Given the description of an element on the screen output the (x, y) to click on. 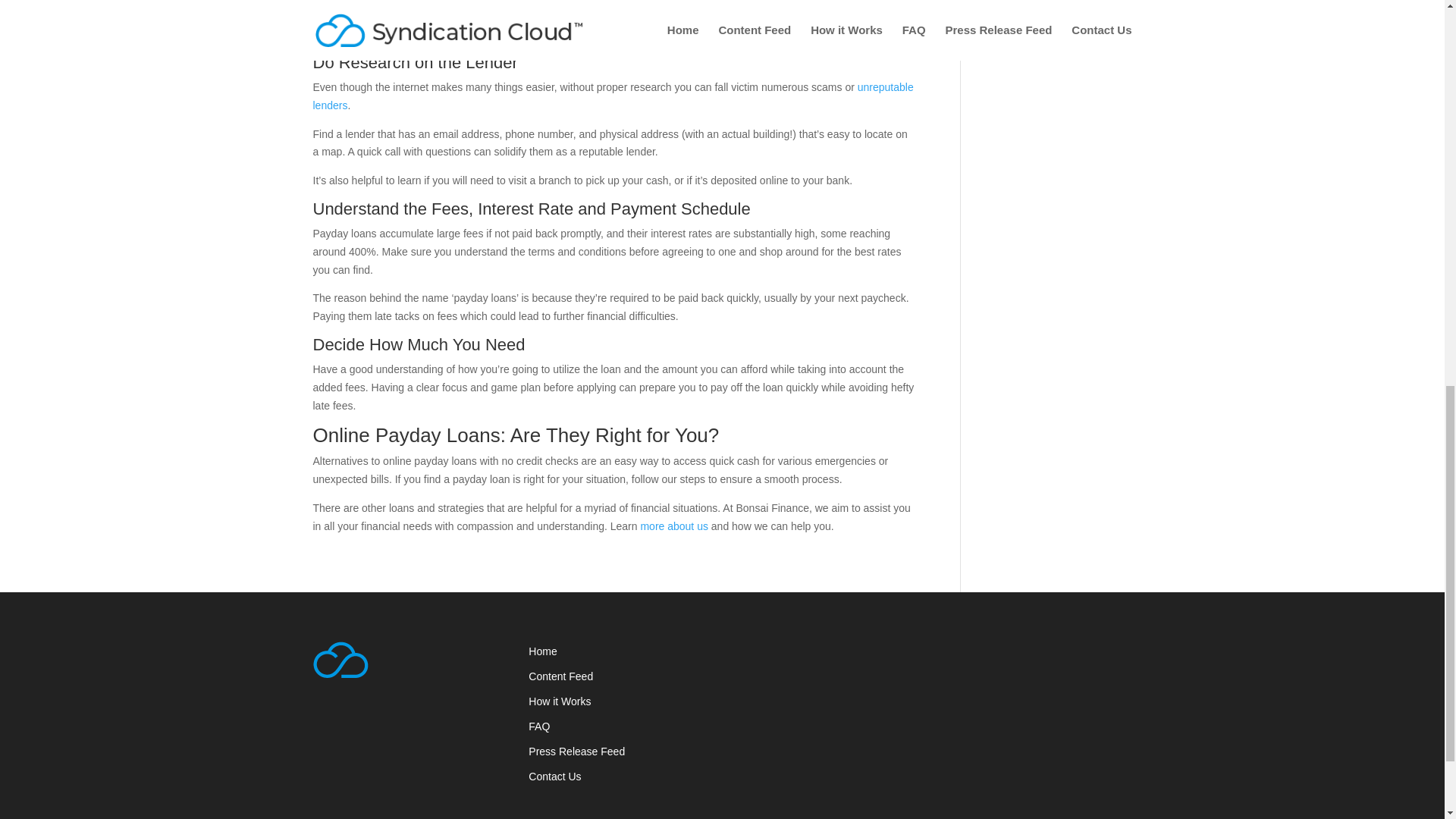
How it Works (559, 701)
unreputable lenders (612, 96)
Contact Us (554, 776)
Home (542, 651)
more about us (673, 526)
Content Feed (560, 676)
Press Release Feed (576, 751)
FAQ (539, 726)
